Given the description of an element on the screen output the (x, y) to click on. 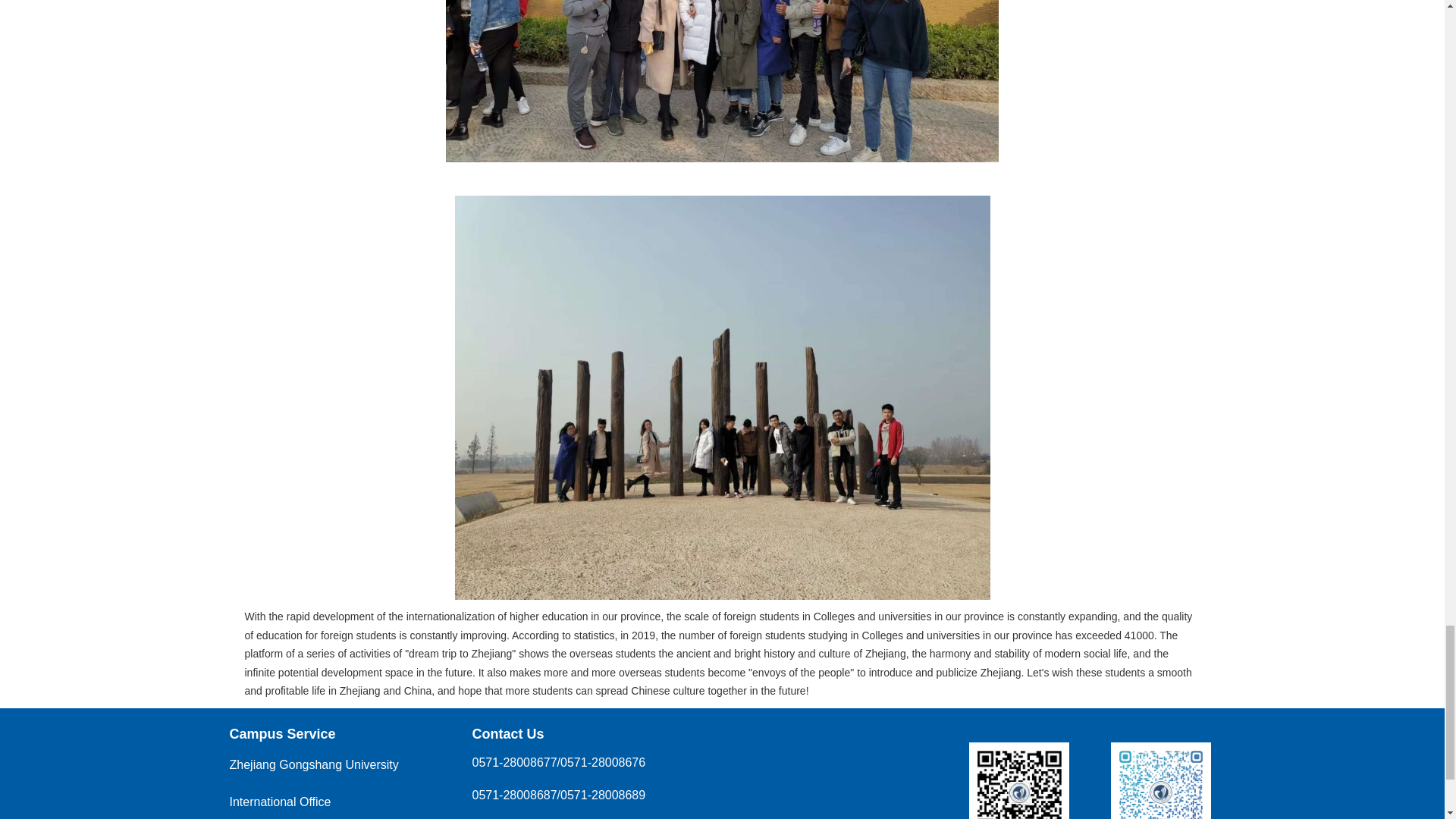
International Office (279, 800)
Follow us on Youku (1161, 761)
Zhejiang Gongshang University (312, 764)
Zhejiang Gongshang University (312, 764)
1607399508126797.png (721, 80)
International Office (279, 800)
Follow us on Wechat (1018, 761)
Contact Us (507, 734)
